Given the description of an element on the screen output the (x, y) to click on. 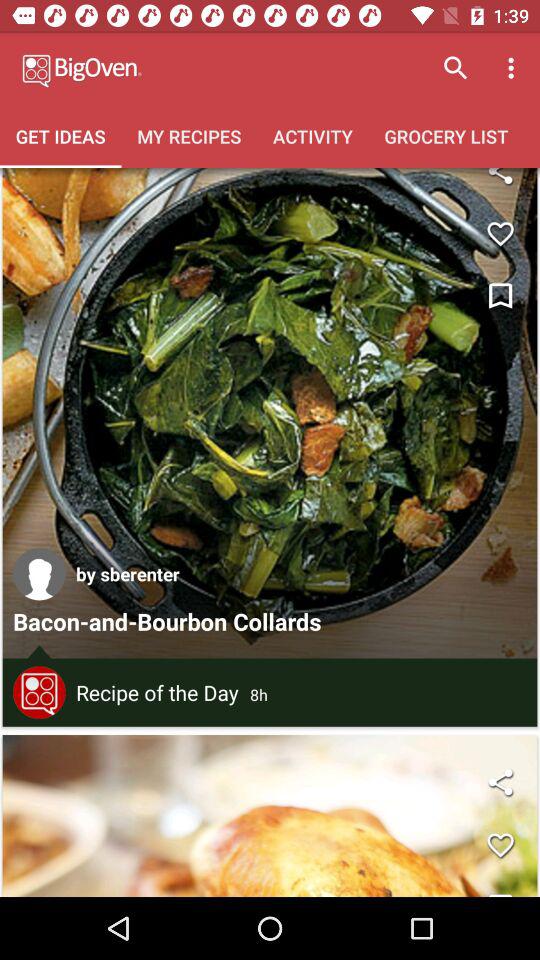
tap icon above grocery list item (455, 67)
